Given the description of an element on the screen output the (x, y) to click on. 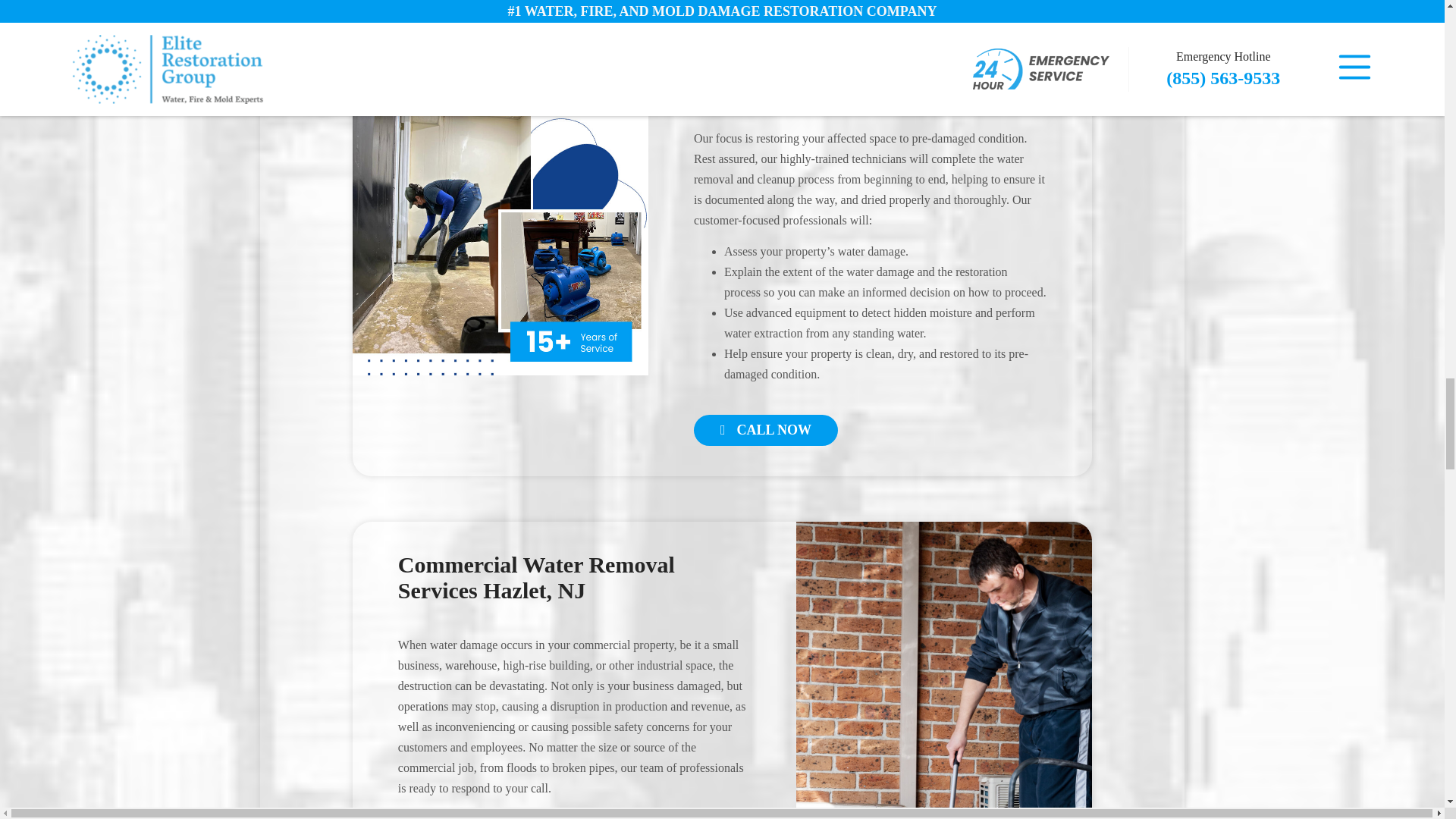
CALL NOW (766, 429)
